Given the description of an element on the screen output the (x, y) to click on. 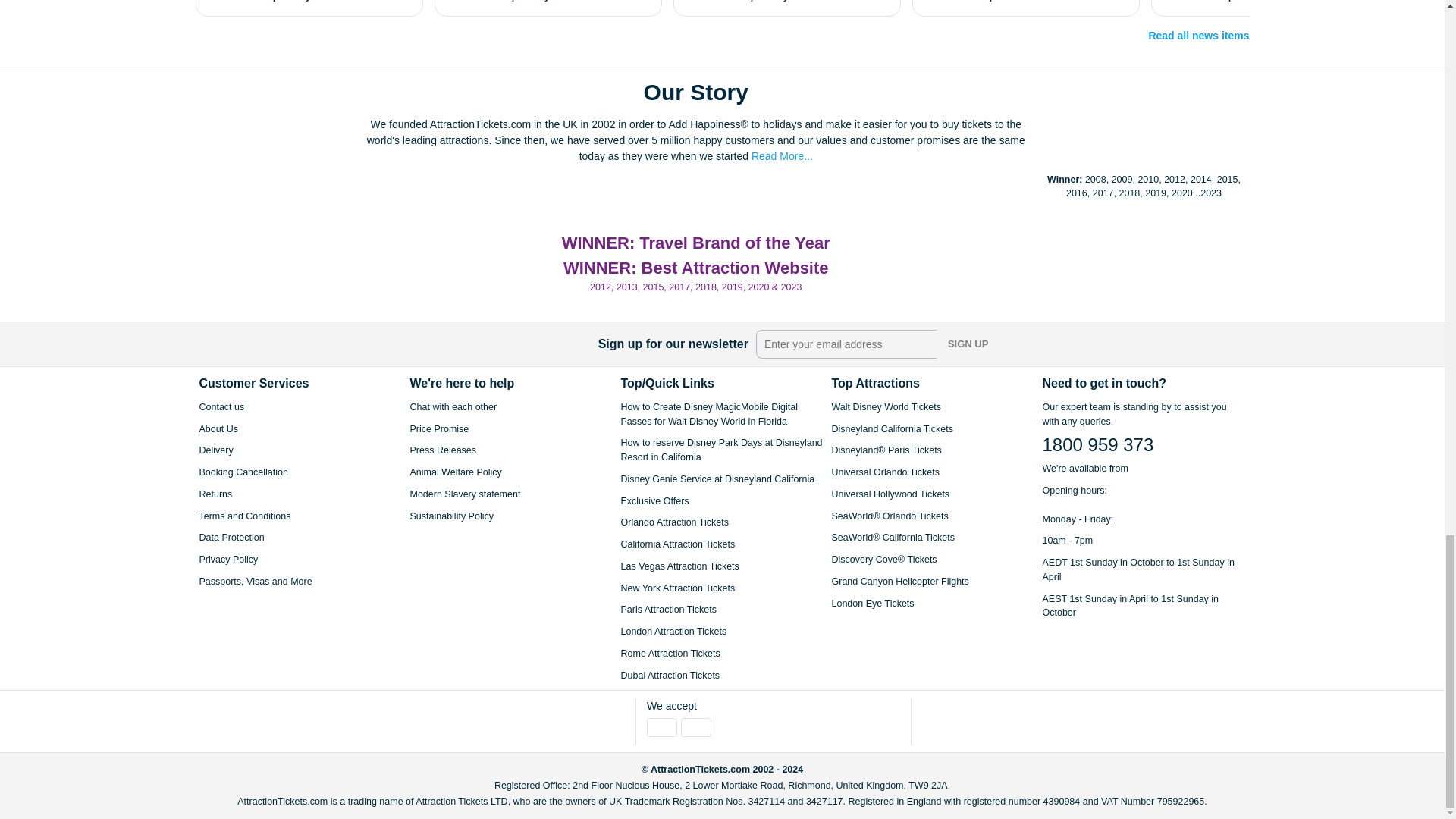
SIGN UP (967, 344)
